Given the description of an element on the screen output the (x, y) to click on. 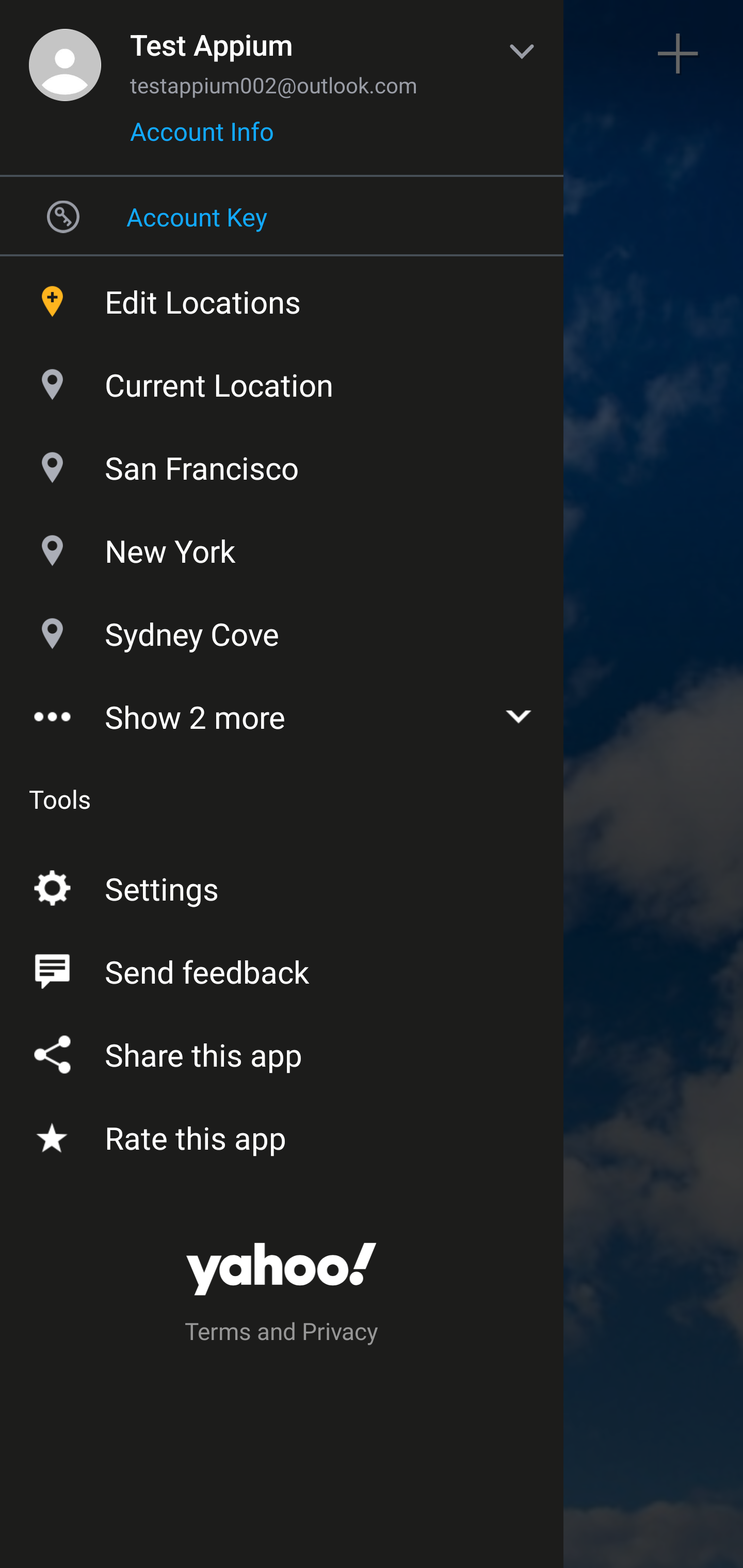
Sidebar (64, 54)
Account Info (202, 137)
Account Key (281, 216)
Edit Locations (281, 296)
Current Location (281, 379)
San Francisco (281, 462)
New York (281, 546)
Sydney Cove (281, 629)
Settings (281, 884)
Send feedback (281, 967)
Share this app (281, 1050)
Terms and Privacy Terms and privacy button (281, 1334)
